Given the description of an element on the screen output the (x, y) to click on. 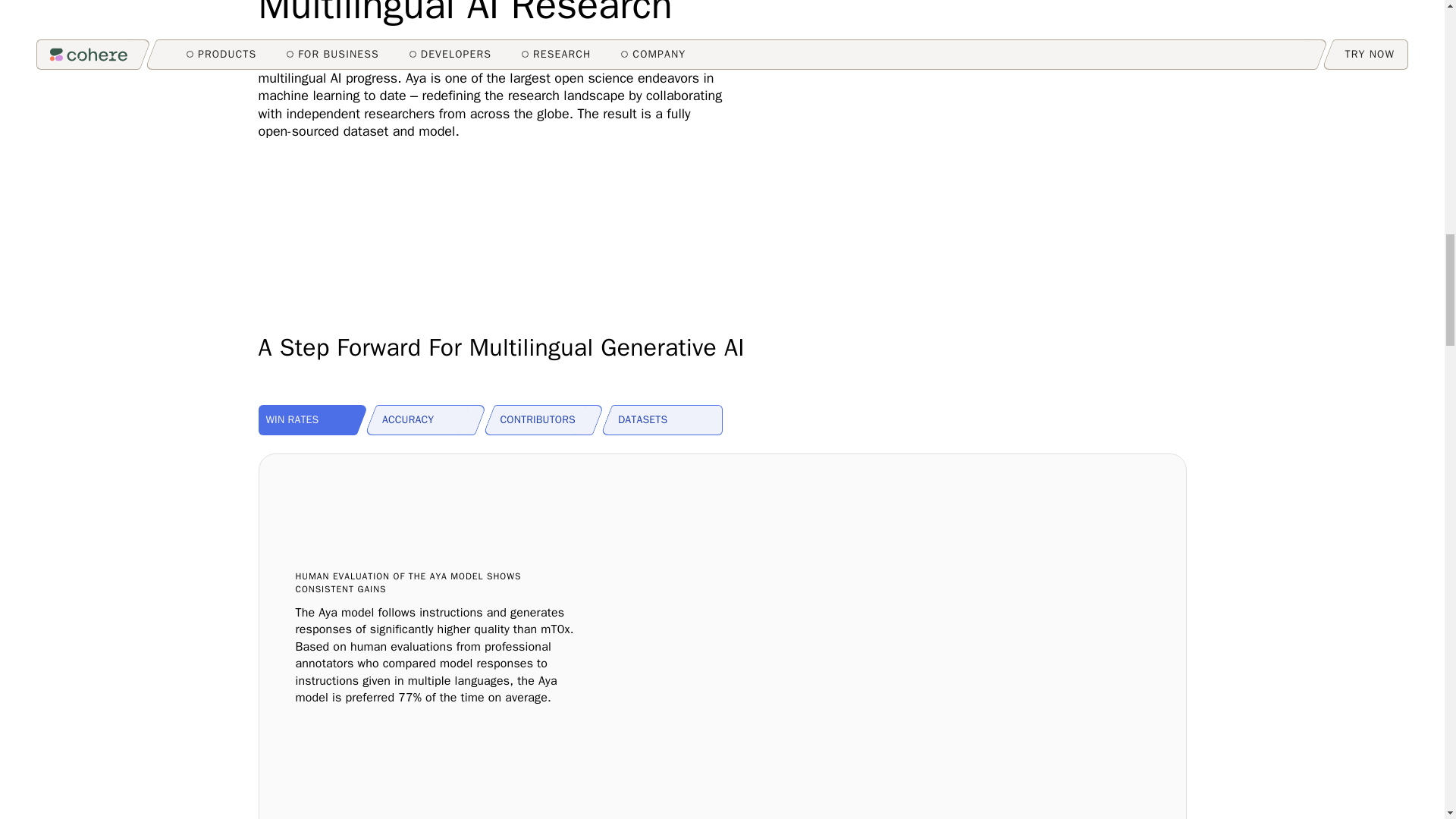
ACCURACY (430, 419)
DATASETS (666, 419)
WIN RATES (312, 419)
CONTRIBUTORS (550, 419)
